Given the description of an element on the screen output the (x, y) to click on. 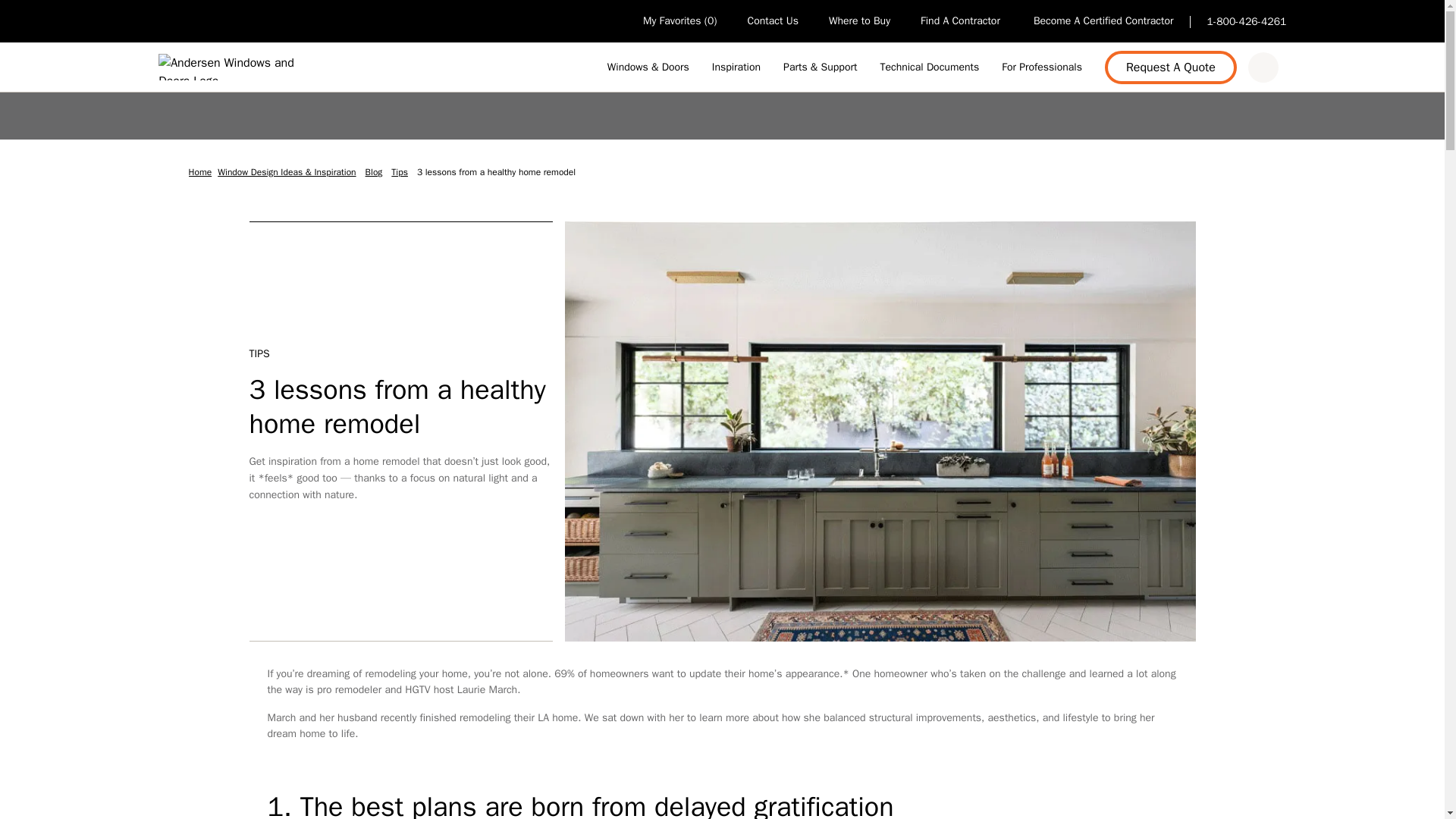
Tips (400, 173)
Request A Quote (1170, 66)
Find A Contractor (961, 20)
Become A Certified Contractor (1103, 20)
Home (200, 173)
Technical Documents (928, 66)
Where to Buy (858, 20)
1-800-426-4261 (1247, 21)
Contact Us (772, 20)
Blog (375, 173)
